Given the description of an element on the screen output the (x, y) to click on. 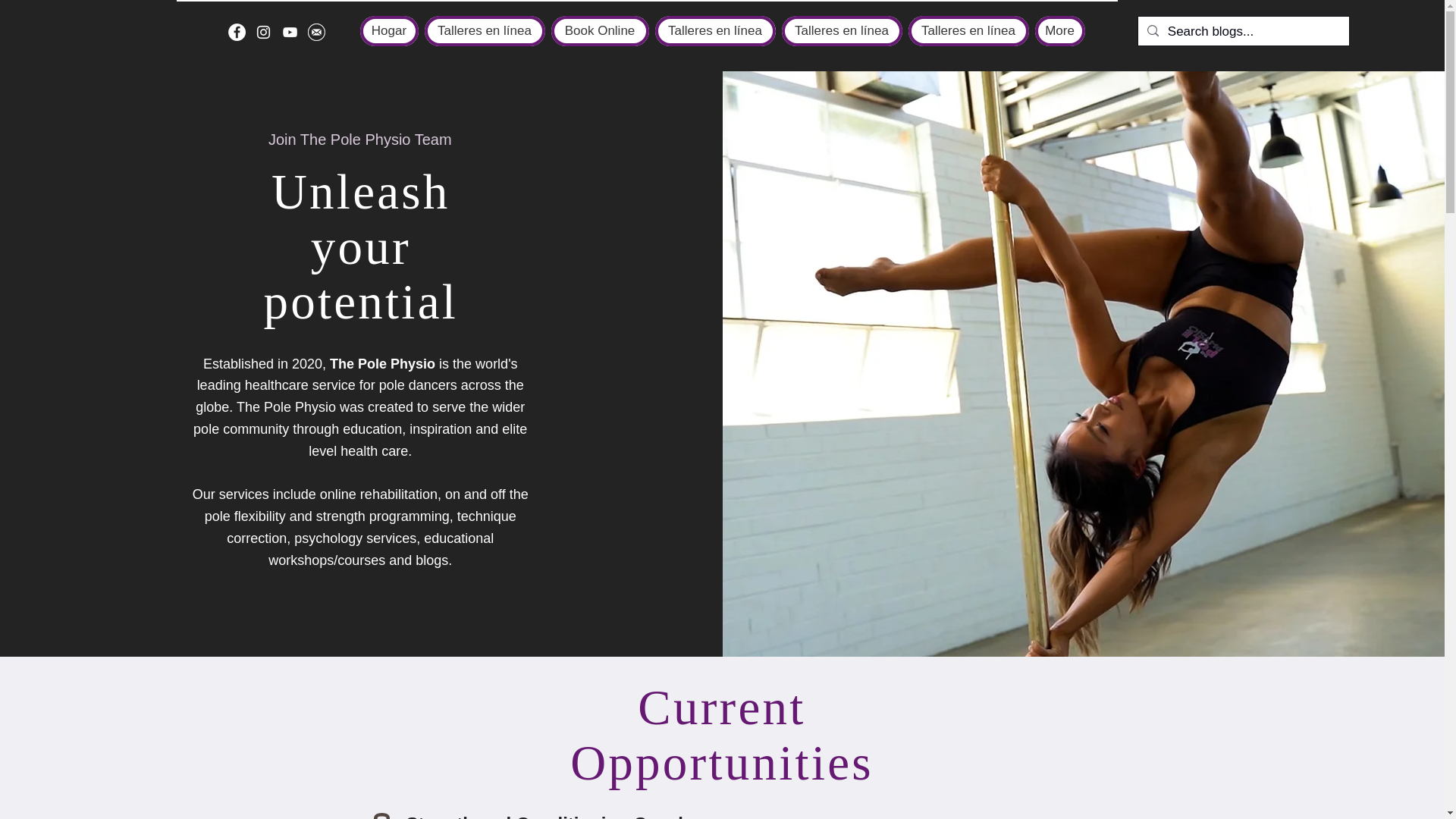
Book Online (598, 30)
Stength and Conditioning Coach (547, 816)
Hogar (388, 30)
